Given the description of an element on the screen output the (x, y) to click on. 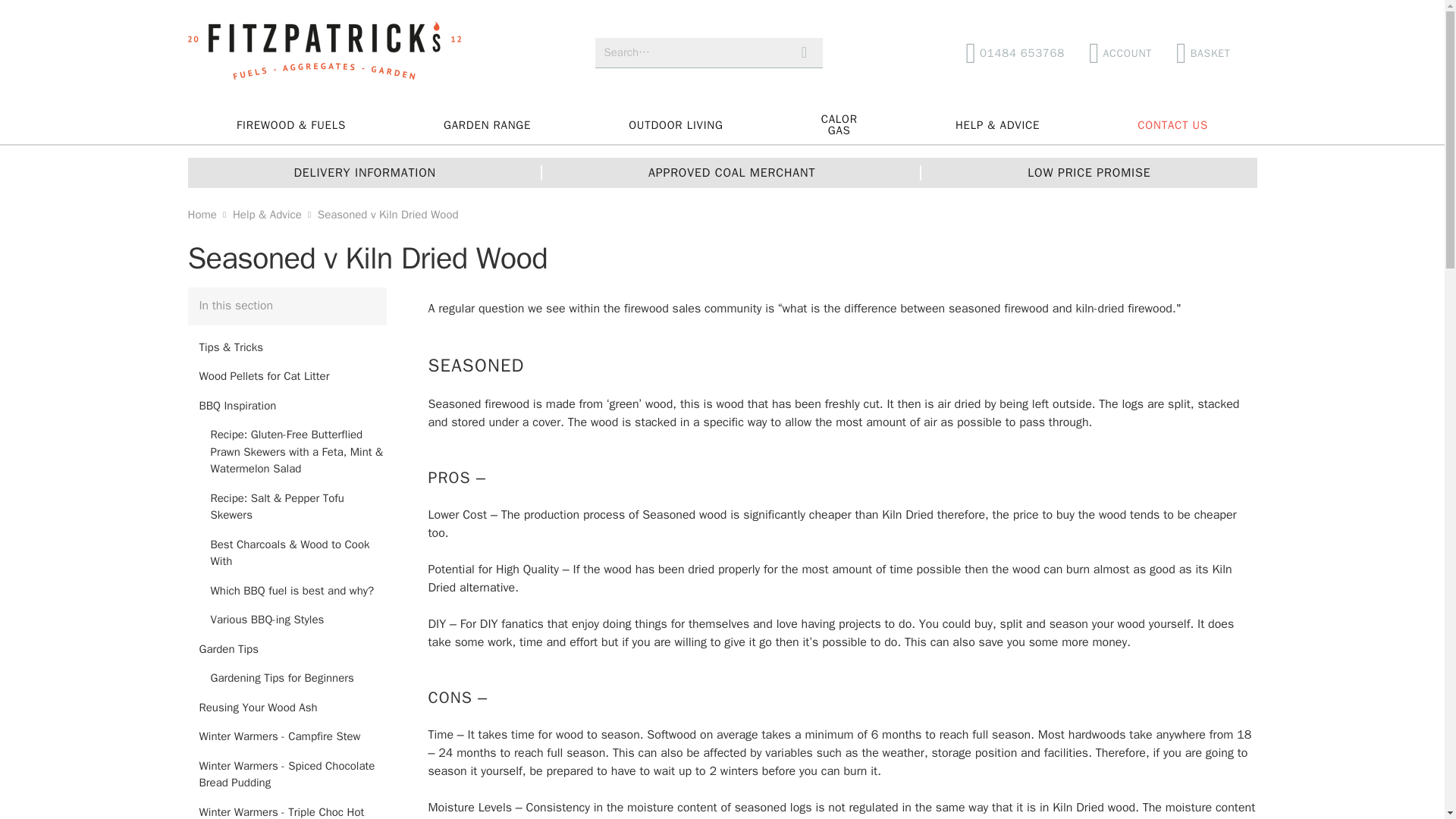
Search (804, 52)
Search (804, 52)
Basket (1208, 52)
OUTDOOR LIVING (838, 125)
Account (675, 125)
Fitzpatrick Fuels (1120, 52)
ACCOUNT (324, 53)
01484 653768 (1120, 52)
Fitzpatrick Fuels (1015, 52)
GARDEN RANGE (324, 53)
BASKET (486, 125)
